Given the description of an element on the screen output the (x, y) to click on. 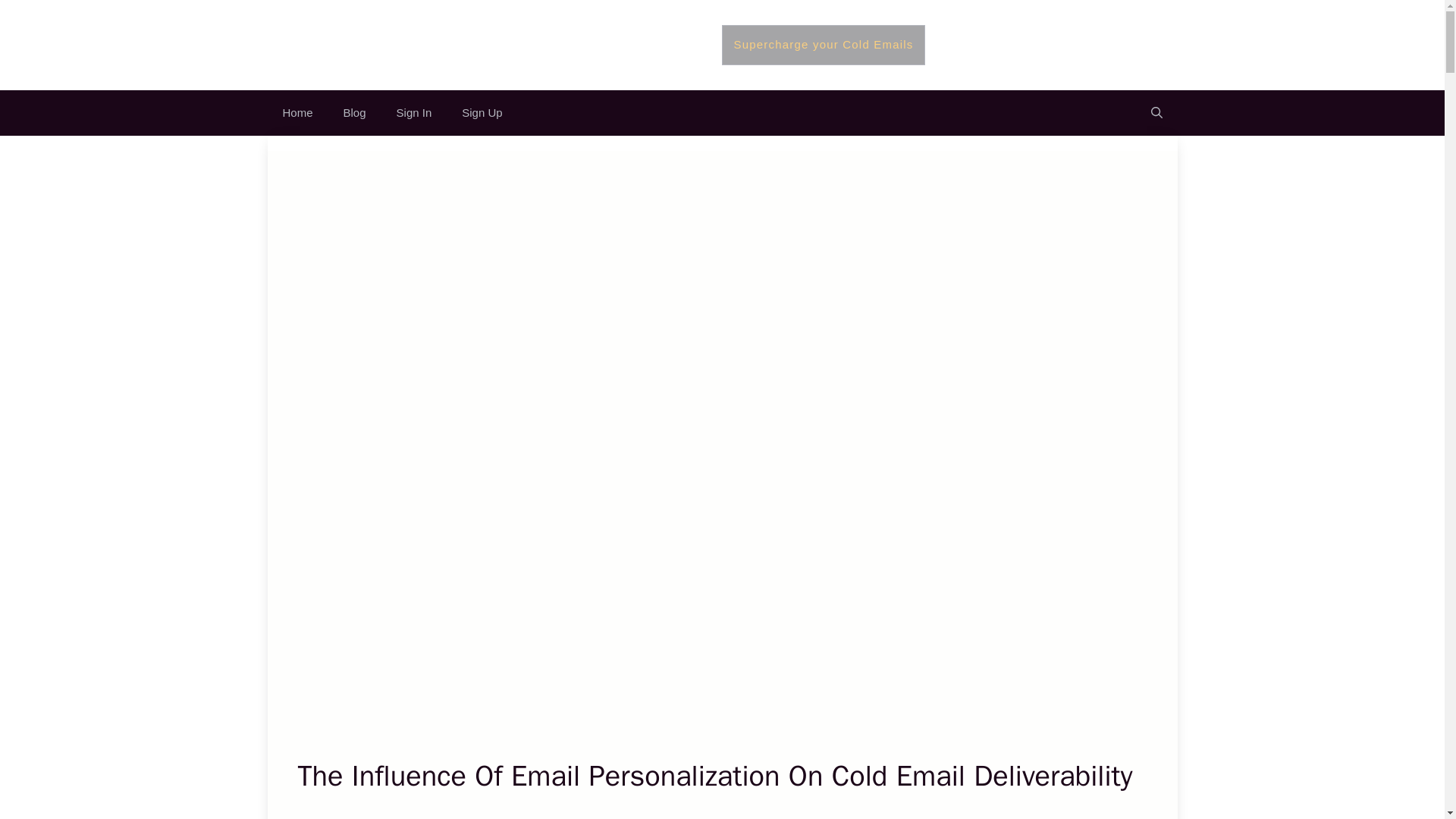
Sign In (413, 112)
Blog (355, 112)
Home (296, 112)
Sign Up (481, 112)
